Given the description of an element on the screen output the (x, y) to click on. 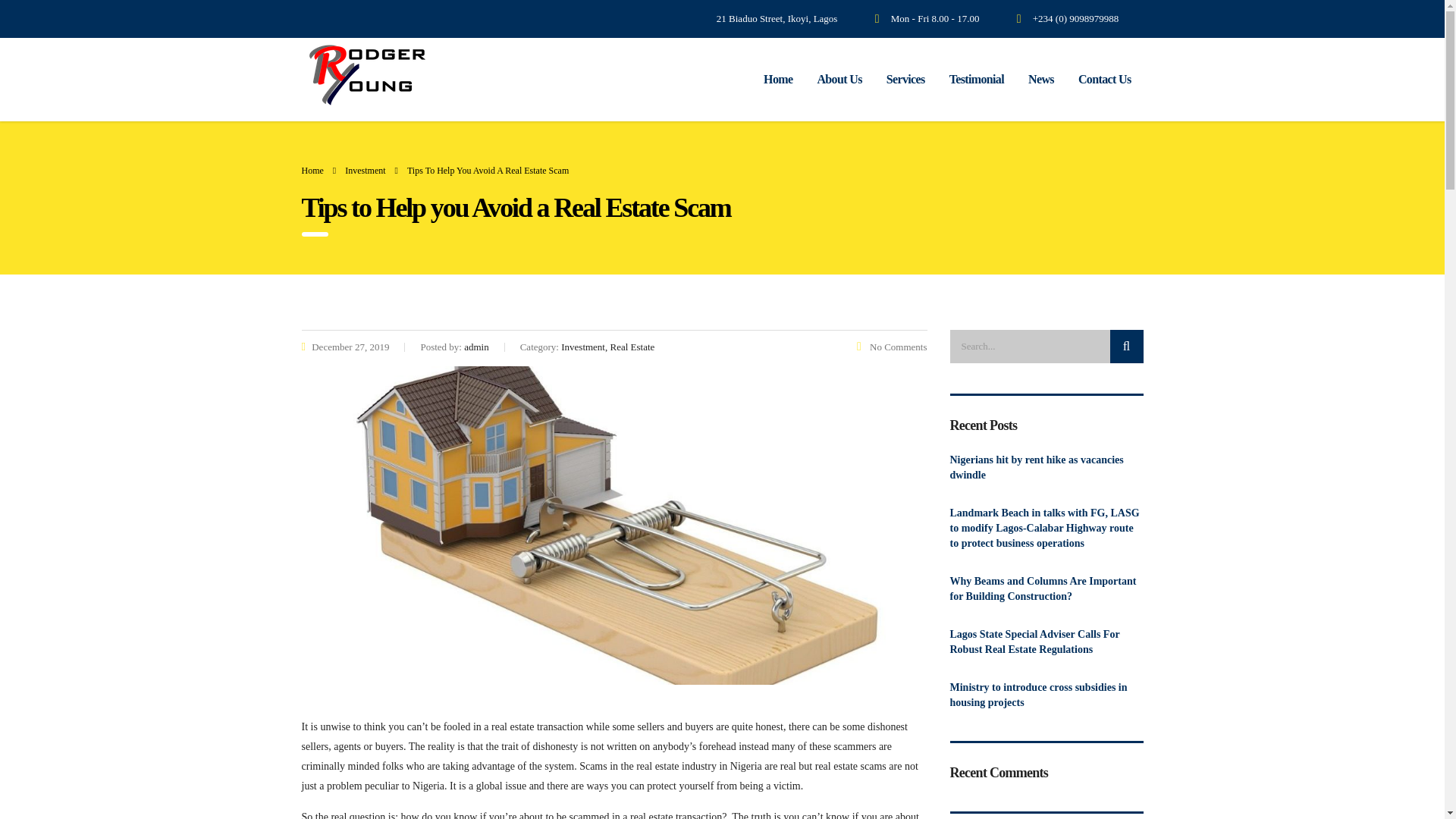
Services (906, 79)
Ministry to introduce cross subsidies in housing projects (1045, 695)
Home (778, 79)
No Comments (892, 346)
Testimonial (976, 79)
Go to the Investment category archives. (365, 170)
Home (312, 170)
